Given the description of an element on the screen output the (x, y) to click on. 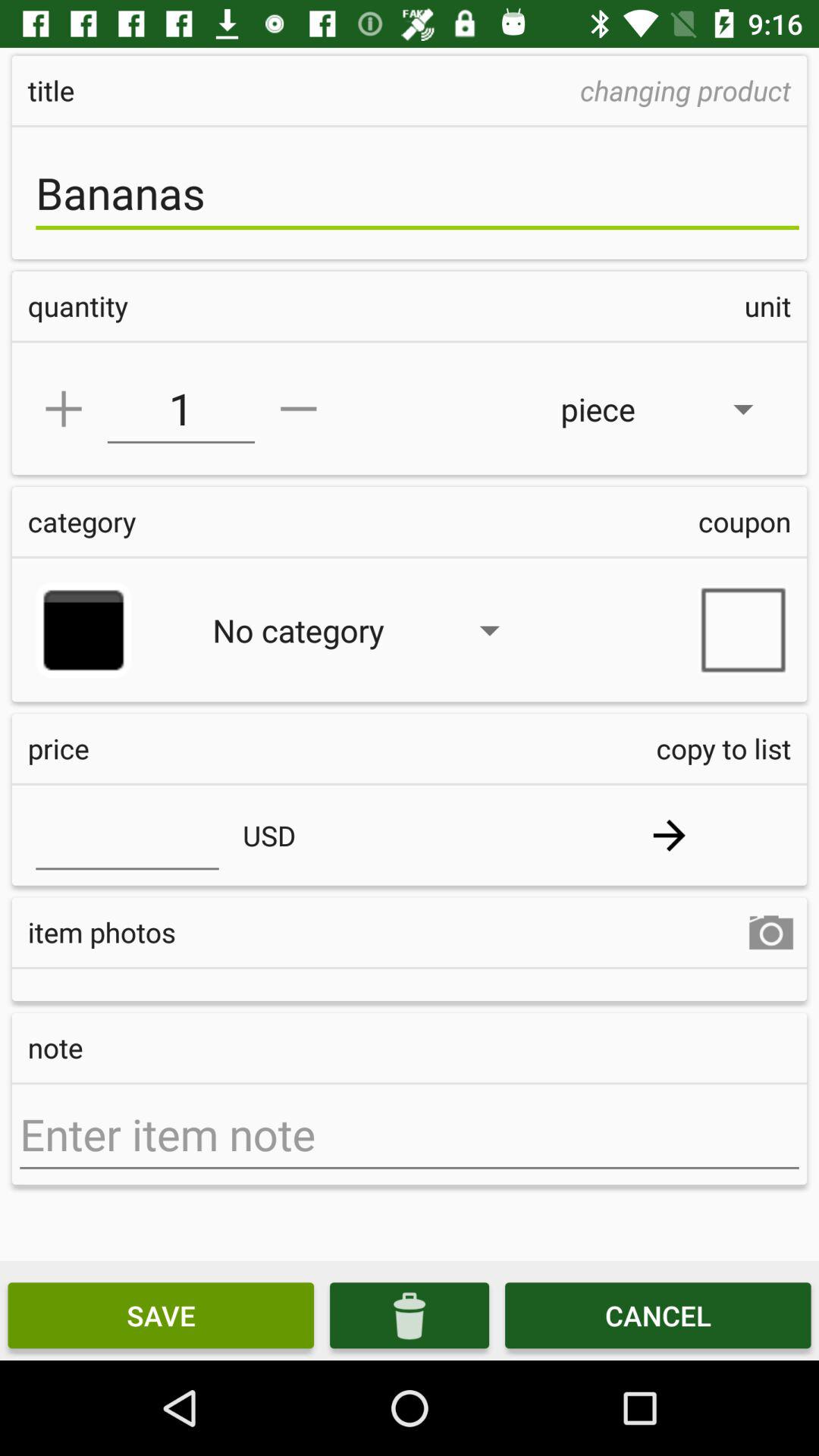
copy to list (669, 835)
